Given the description of an element on the screen output the (x, y) to click on. 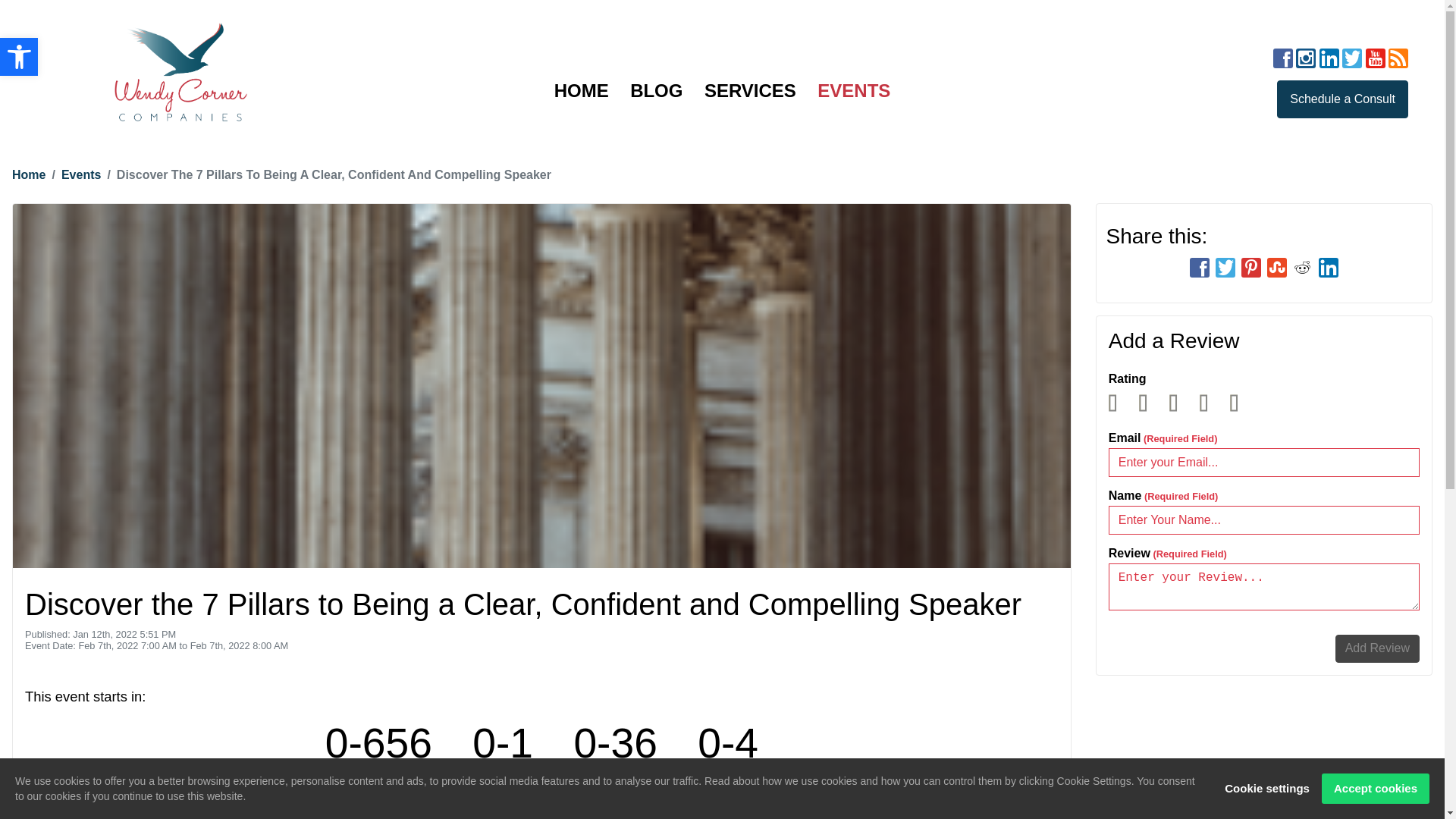
Add Review Element type: text (1377, 648)
HOME Element type: text (581, 90)
social-facebook Element type: text (1282, 54)
social-youtube Element type: text (1375, 54)
social-instagram Element type: text (1305, 54)
Schedule a Consult Element type: text (1342, 99)
social-linkedin Element type: text (1328, 260)
EVENTS Element type: text (853, 90)
Home Element type: text (28, 174)
social-stumbleupon Element type: text (1276, 260)
social-reddit Element type: text (1302, 260)
Accept cookies Element type: text (1375, 788)
Cookie settings Element type: text (1266, 788)
BLOG Element type: text (656, 90)
social-twitter Element type: text (1225, 260)
social-facebook Element type: text (1199, 260)
Events Element type: text (80, 174)
social-twitter Element type: text (1351, 54)
SERVICES Element type: text (750, 90)
Open toolbar
a11y Element type: text (18, 56)
social-rss Element type: text (1398, 54)
social-linkedin Element type: text (1329, 54)
social-pinterest Element type: text (1251, 260)
